Given the description of an element on the screen output the (x, y) to click on. 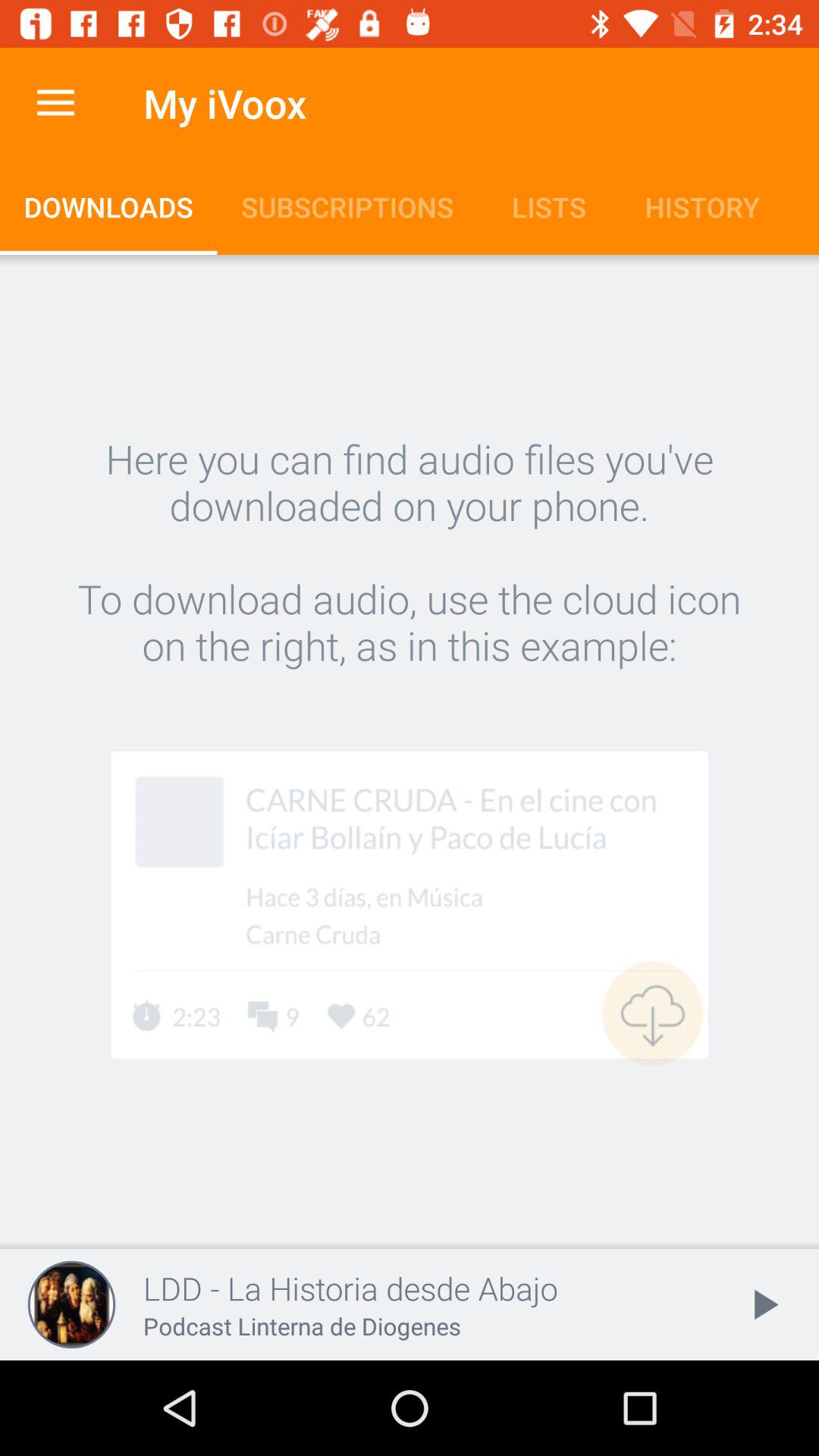
open icon next to the my ivoox (55, 103)
